Given the description of an element on the screen output the (x, y) to click on. 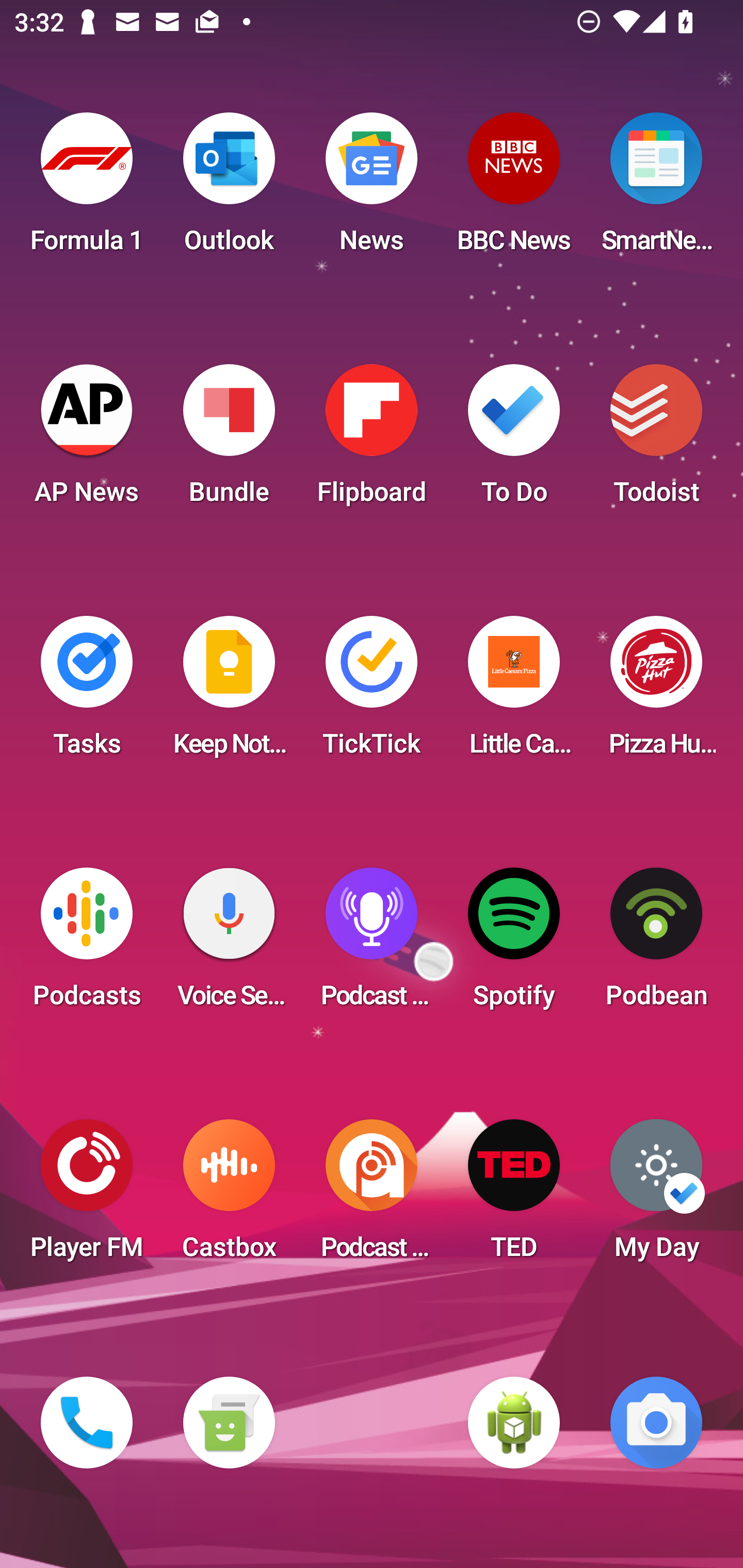
Formula 1 (86, 188)
Outlook (228, 188)
News (371, 188)
BBC News (513, 188)
SmartNews (656, 188)
AP News (86, 440)
Bundle (228, 440)
Flipboard (371, 440)
To Do (513, 440)
Todoist (656, 440)
Tasks (86, 692)
Keep Notes (228, 692)
TickTick (371, 692)
Little Caesars Pizza (513, 692)
Pizza Hut HK & Macau (656, 692)
Podcasts (86, 943)
Voice Search (228, 943)
Podcast Player (371, 943)
Spotify (513, 943)
Podbean (656, 943)
Player FM (86, 1195)
Castbox (228, 1195)
Podcast Addict (371, 1195)
TED (513, 1195)
My Day (656, 1195)
Phone (86, 1422)
Messaging (228, 1422)
WebView Browser Tester (513, 1422)
Camera (656, 1422)
